Given the description of an element on the screen output the (x, y) to click on. 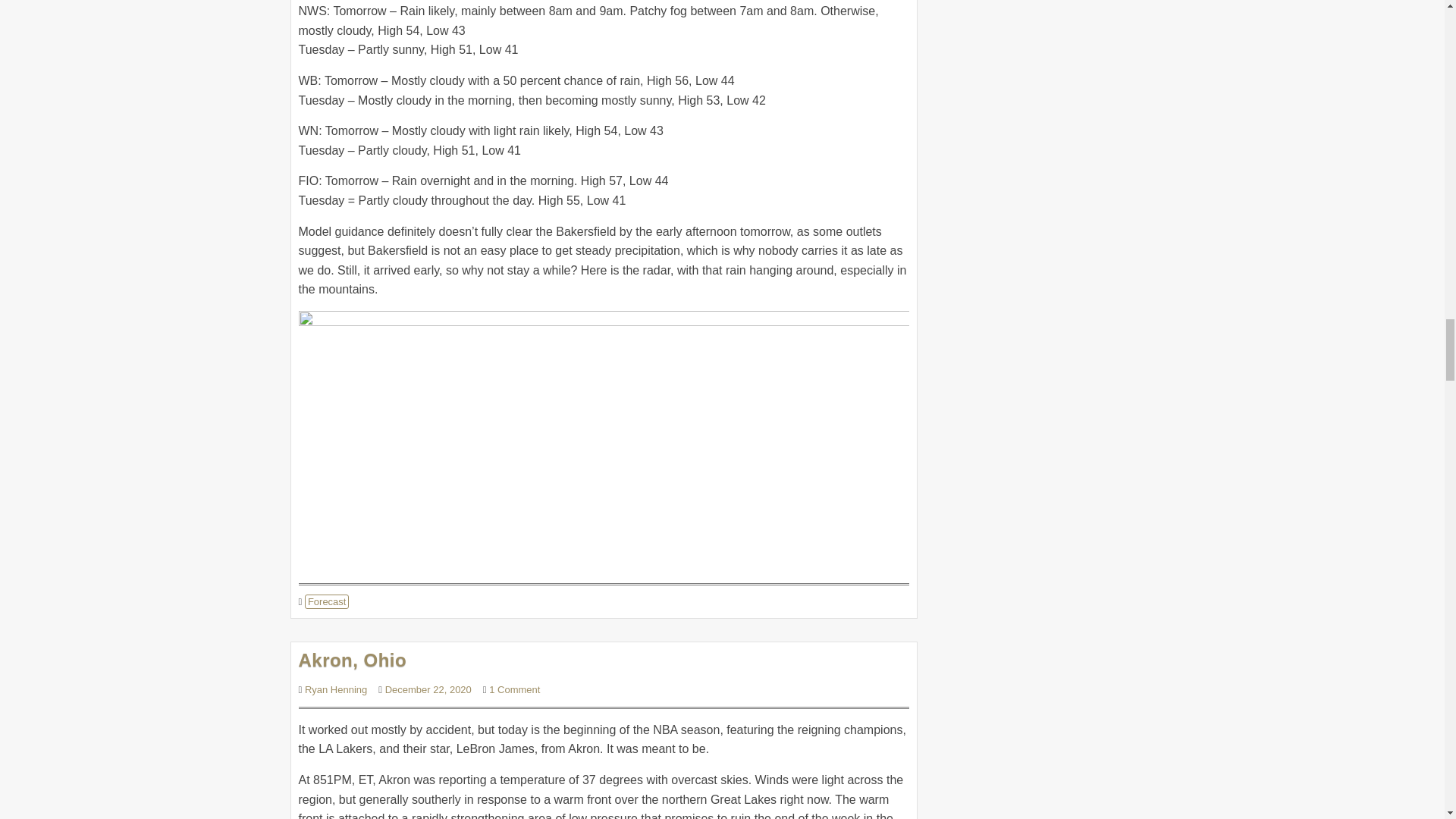
Forecast (326, 601)
Ryan Henning (335, 689)
December 22, 2020 (428, 689)
1 Comment (514, 689)
Akron, Ohio (352, 660)
